Given the description of an element on the screen output the (x, y) to click on. 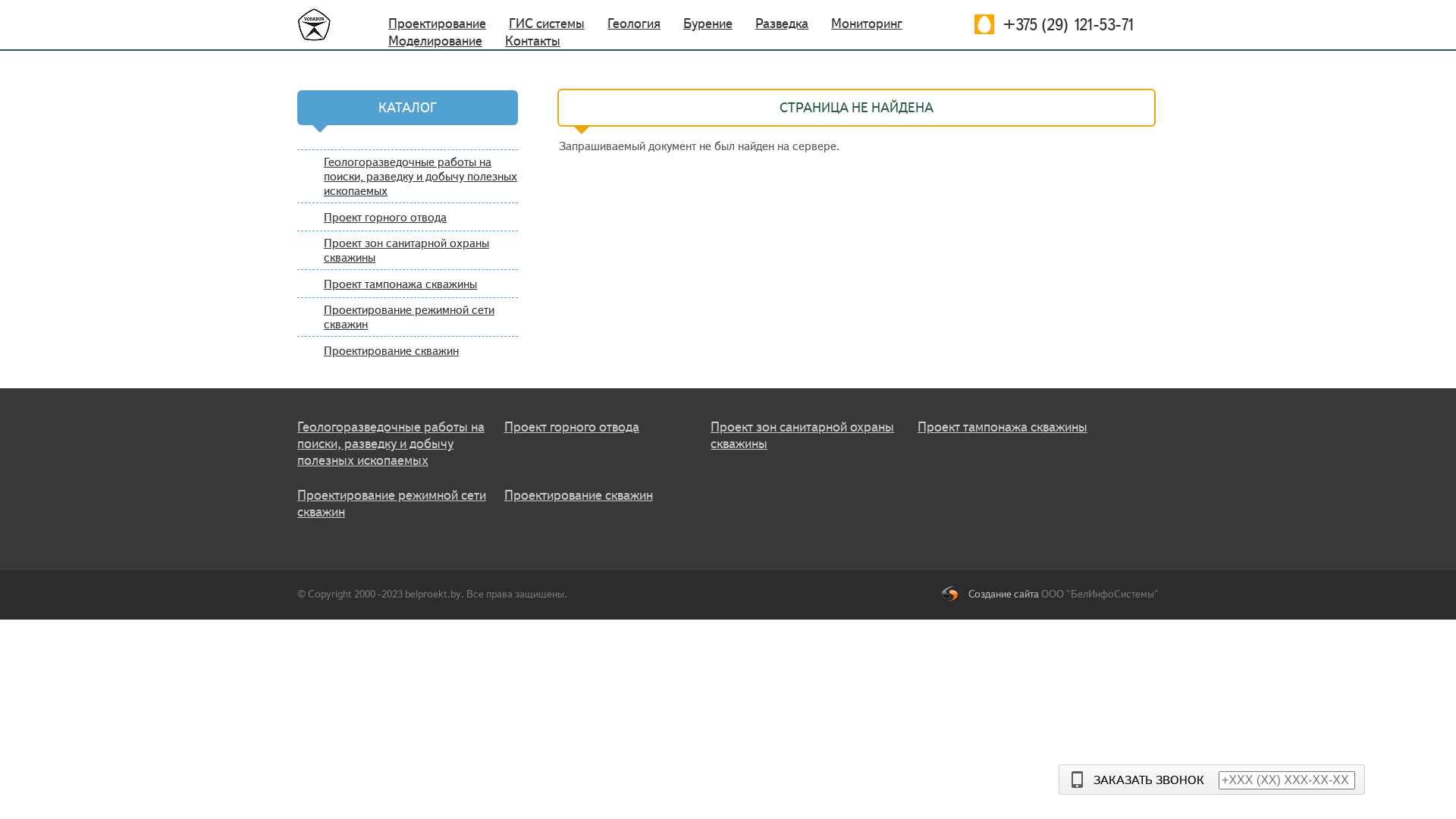
+375 (29) 121-53-71 Element type: text (1054, 24)
+XXX (XX) XXX-XX-XX Element type: hover (1286, 780)
http://belproekt.by/ Element type: hover (322, 24)
http://belproekt.by/ Element type: hover (331, 23)
+375 (29) 121-53-71 Element type: hover (984, 24)
